Given the description of an element on the screen output the (x, y) to click on. 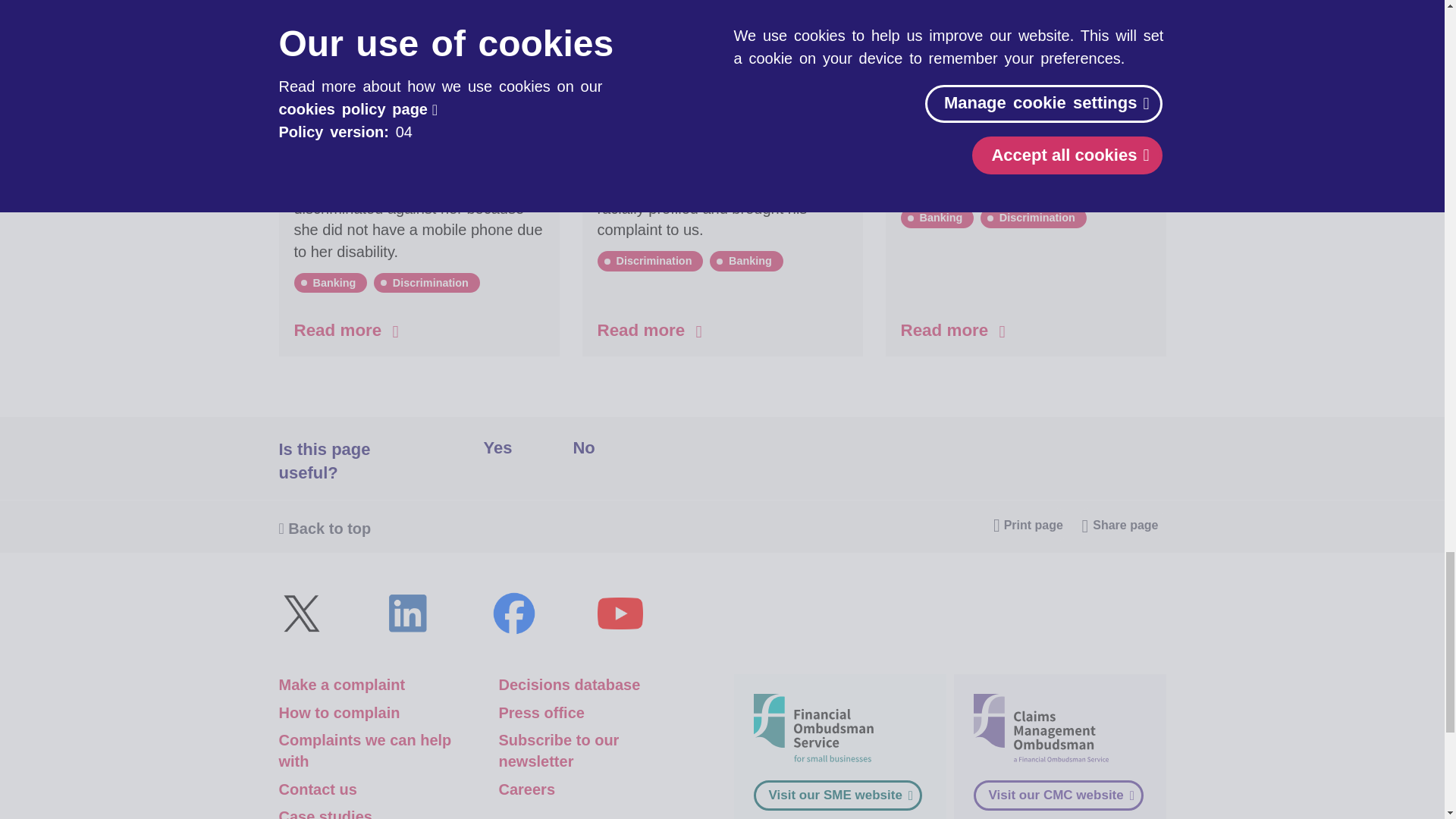
0 (549, 447)
1 (461, 447)
